Given the description of an element on the screen output the (x, y) to click on. 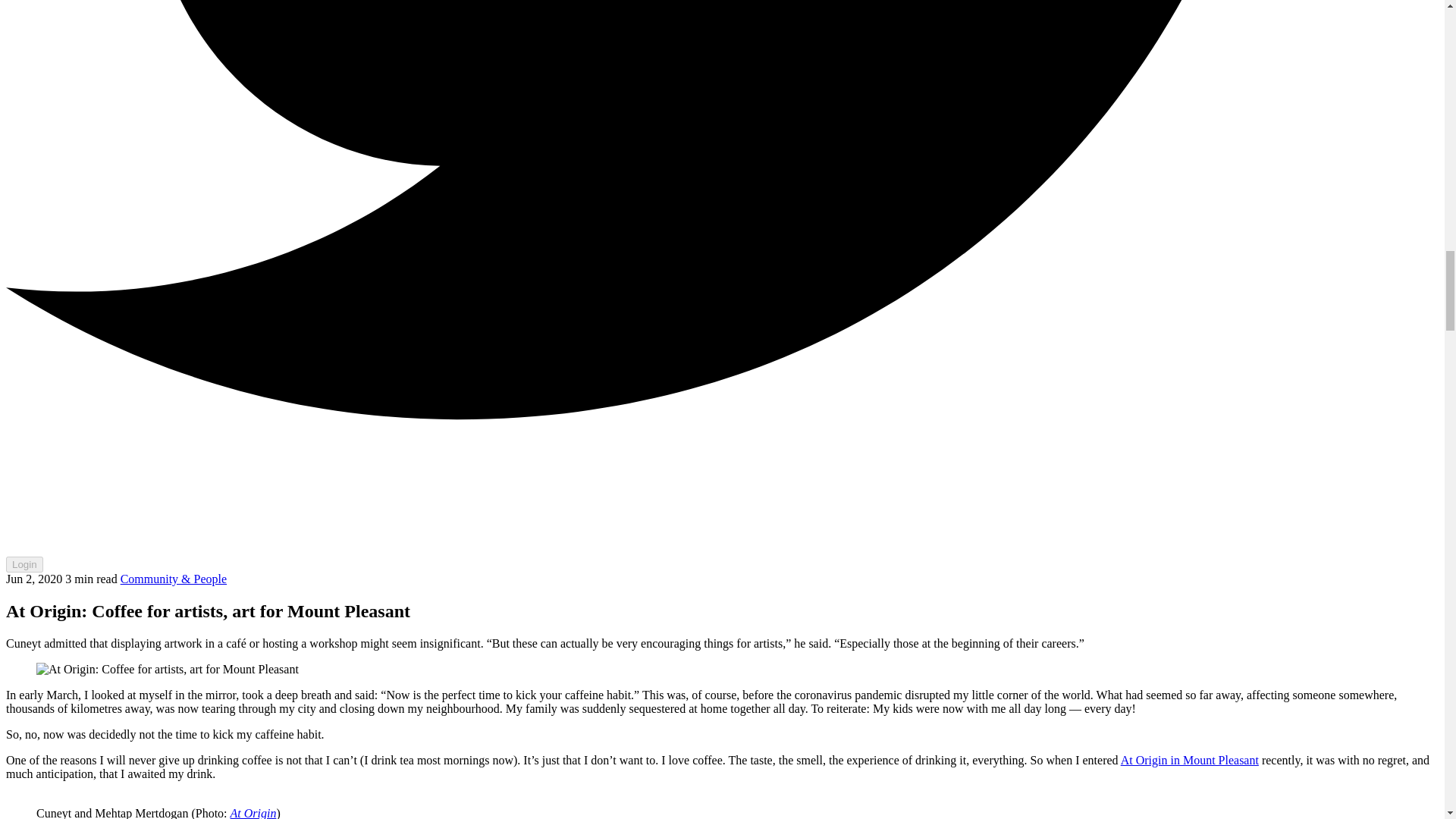
Login (24, 564)
At Origin (253, 812)
At Origin in Mount Pleasant (1190, 759)
